Given the description of an element on the screen output the (x, y) to click on. 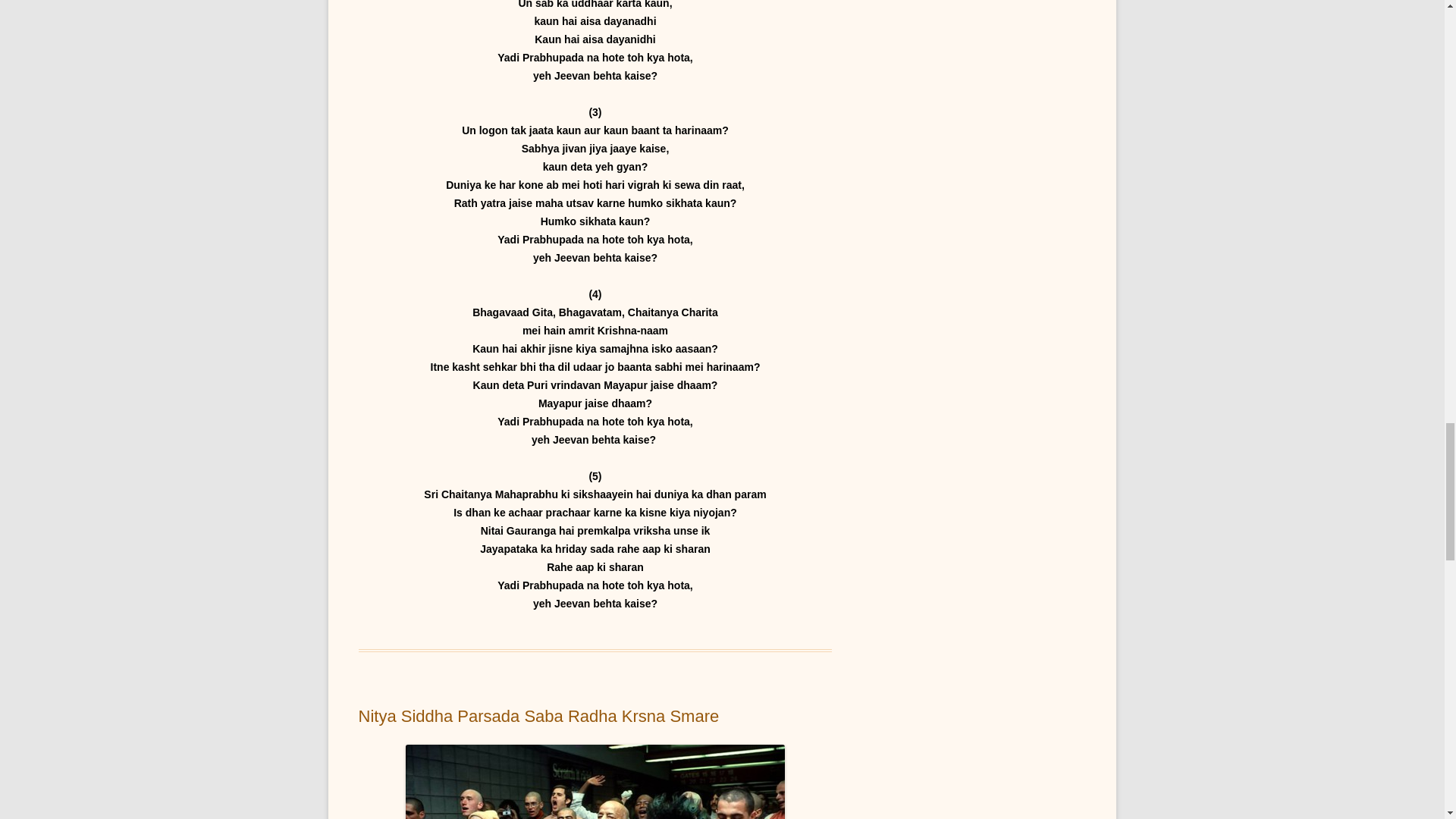
Nitya Siddha Parsada Saba Radha Krsna Smare (538, 715)
